Given the description of an element on the screen output the (x, y) to click on. 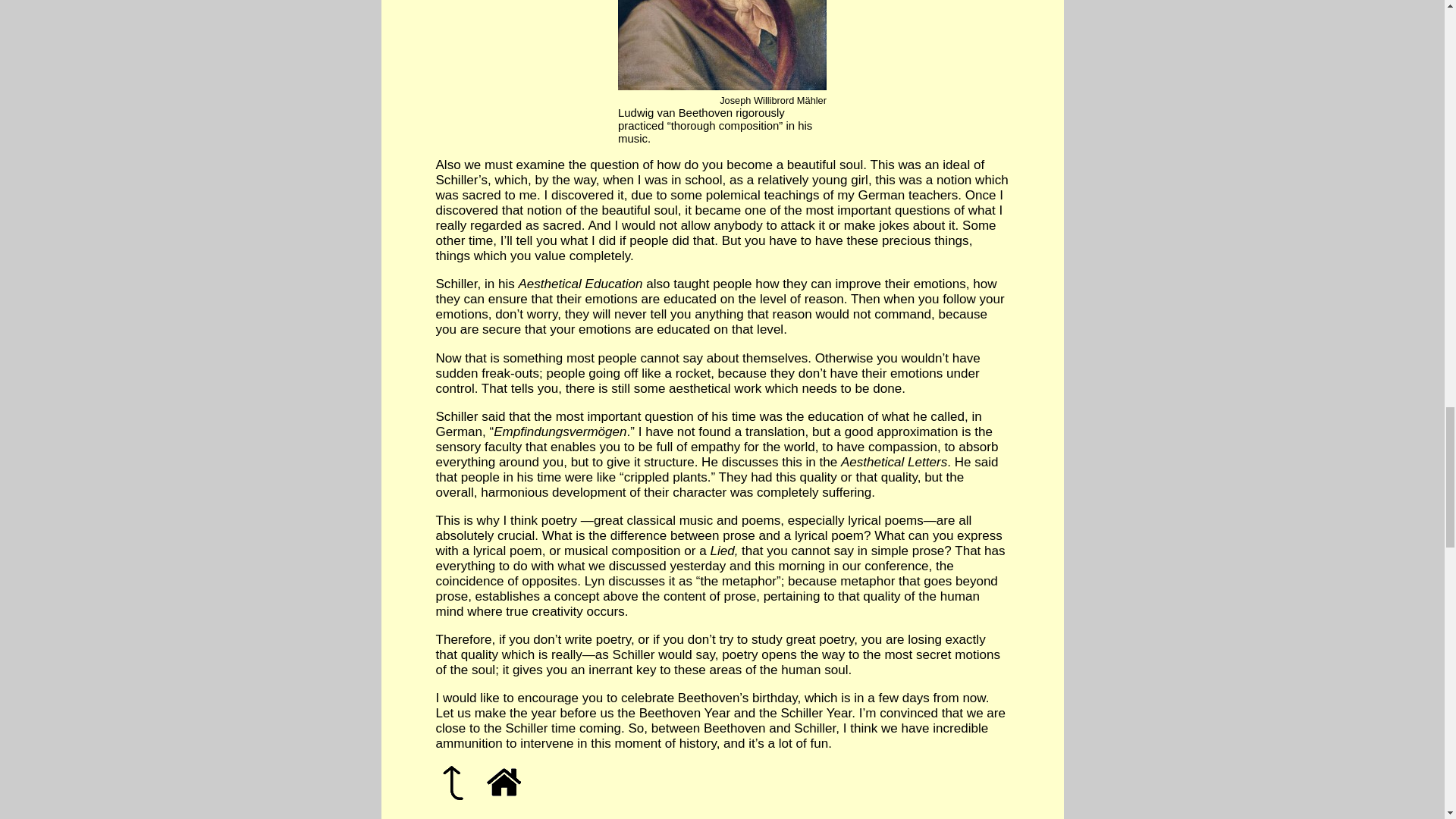
Go to home page (503, 782)
Back to top (451, 782)
